Given the description of an element on the screen output the (x, y) to click on. 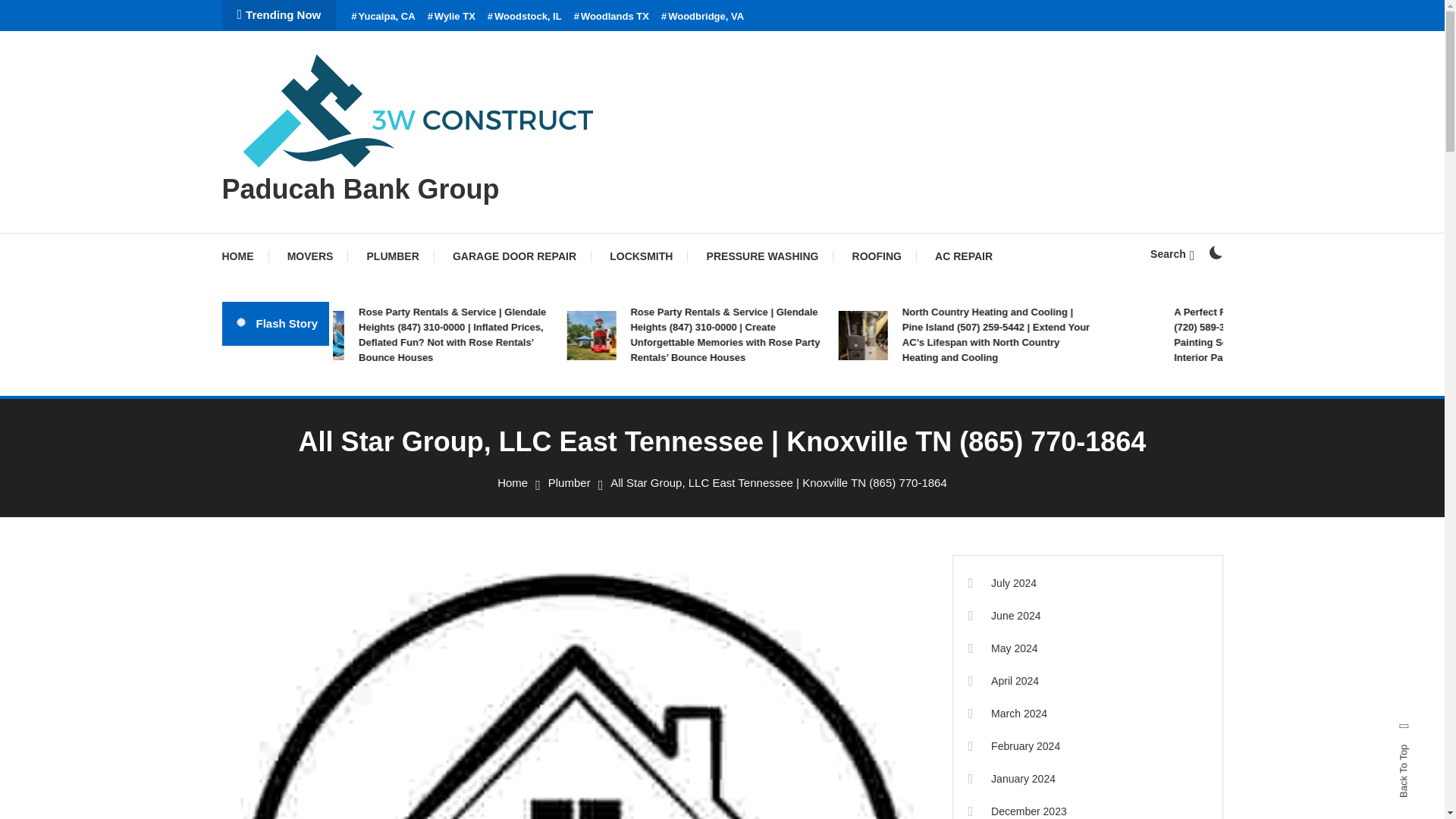
LOCKSMITH (640, 256)
PLUMBER (392, 256)
AC REPAIR (963, 256)
Yucaipa, CA (382, 16)
GARAGE DOOR REPAIR (514, 256)
Plumber (569, 481)
on (1215, 252)
Wylie TX (452, 16)
HOME (244, 256)
PRESSURE WASHING (762, 256)
Search (768, 434)
Woodstock, IL (524, 16)
Paducah Bank Group (360, 188)
Woodlands TX (611, 16)
MOVERS (310, 256)
